Given the description of an element on the screen output the (x, y) to click on. 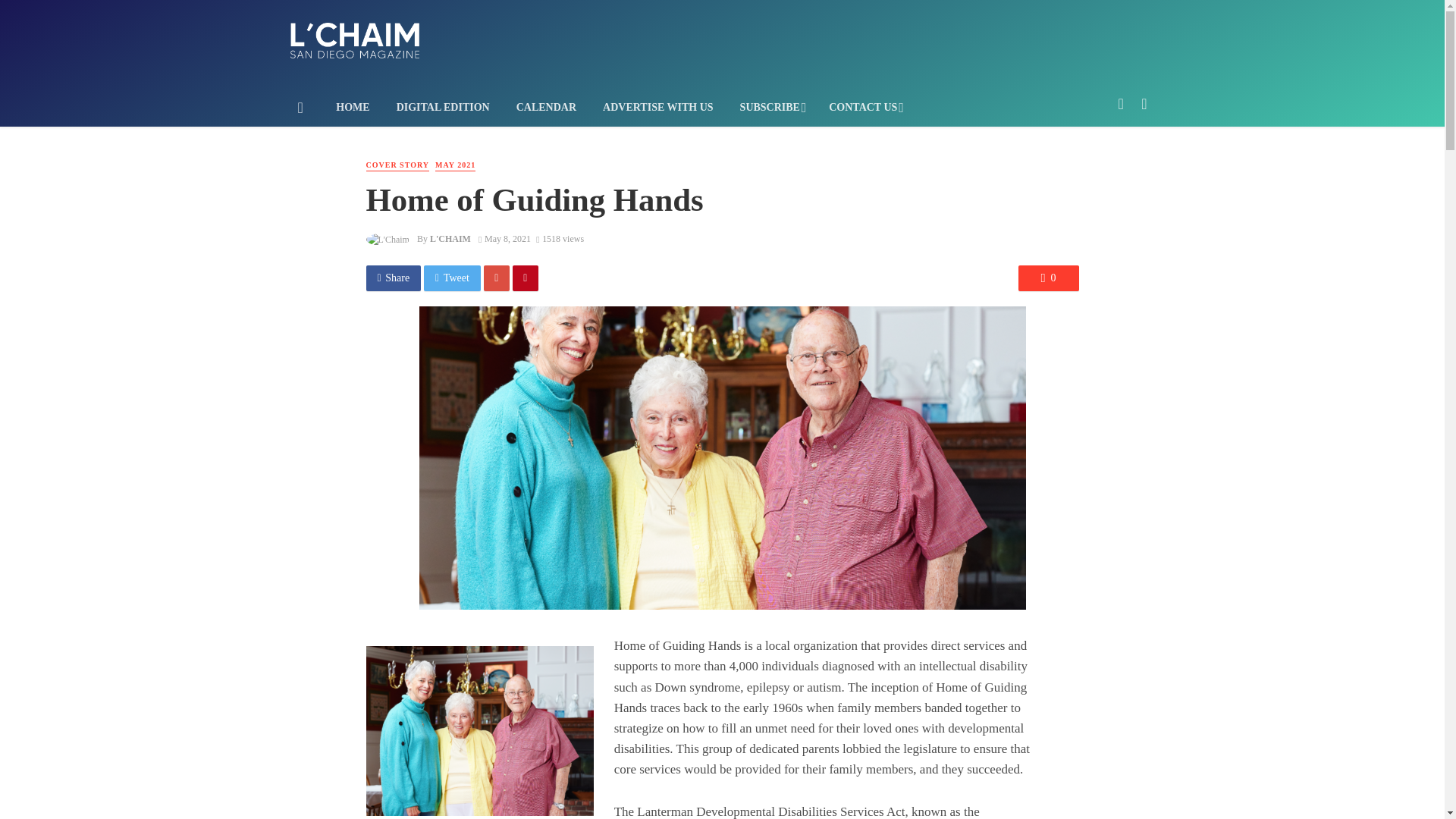
Share (392, 278)
Share on Pinterest (525, 278)
ADVERTISE WITH US (657, 107)
MAY 2021 (455, 165)
L'CHAIM (449, 238)
COVER STORY (397, 165)
Posts by L'Chaim (449, 238)
Share on Facebook (392, 278)
0 Comments (1047, 278)
SUBSCRIBE (770, 107)
